Given the description of an element on the screen output the (x, y) to click on. 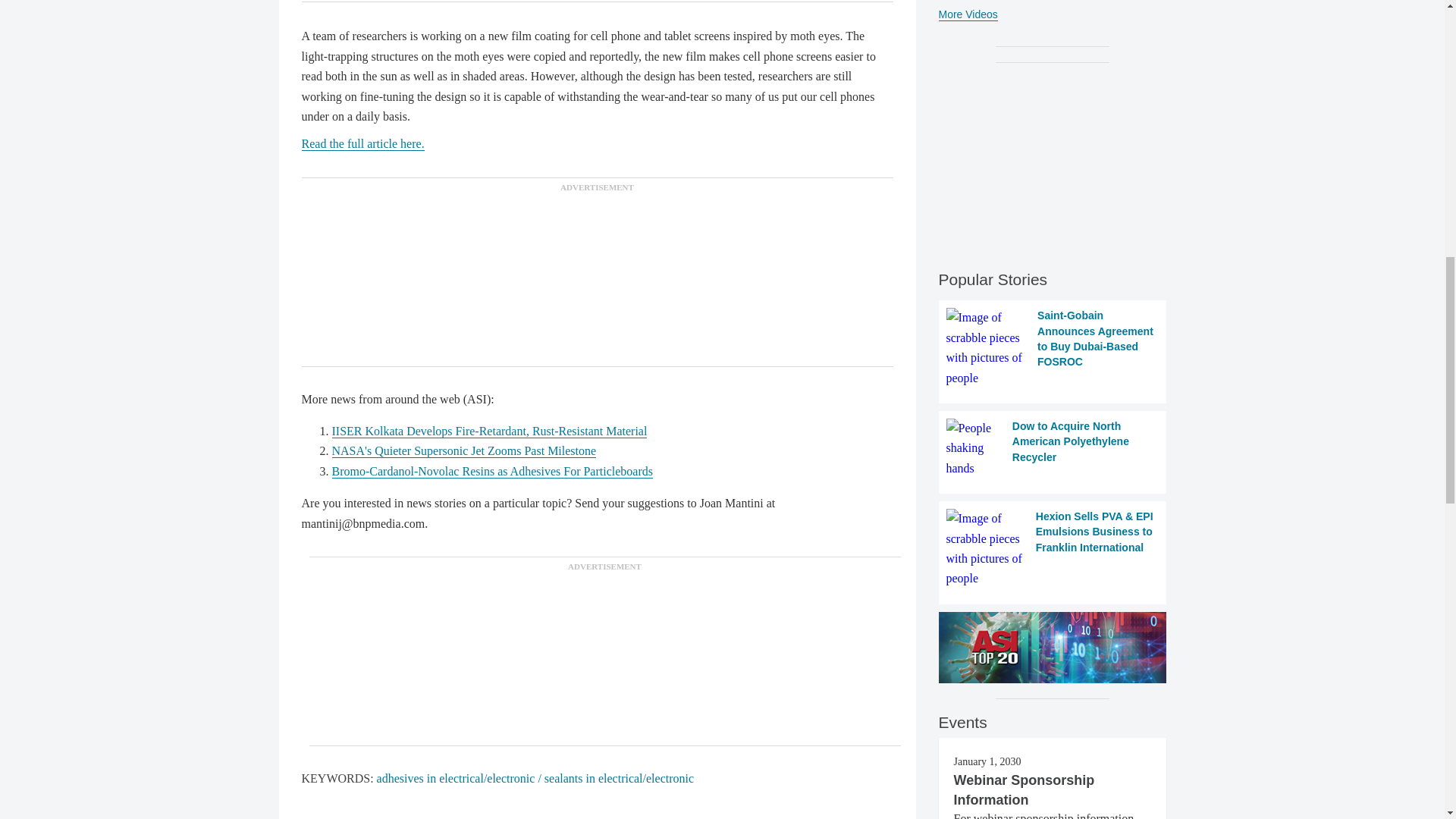
Webinar Sponsorship Information (1023, 790)
Dow to Acquire North American Polyethylene Recycler (1052, 448)
Saint-Gobain Announces Agreement to Buy Dubai-Based FOSROC (1052, 347)
